Given the description of an element on the screen output the (x, y) to click on. 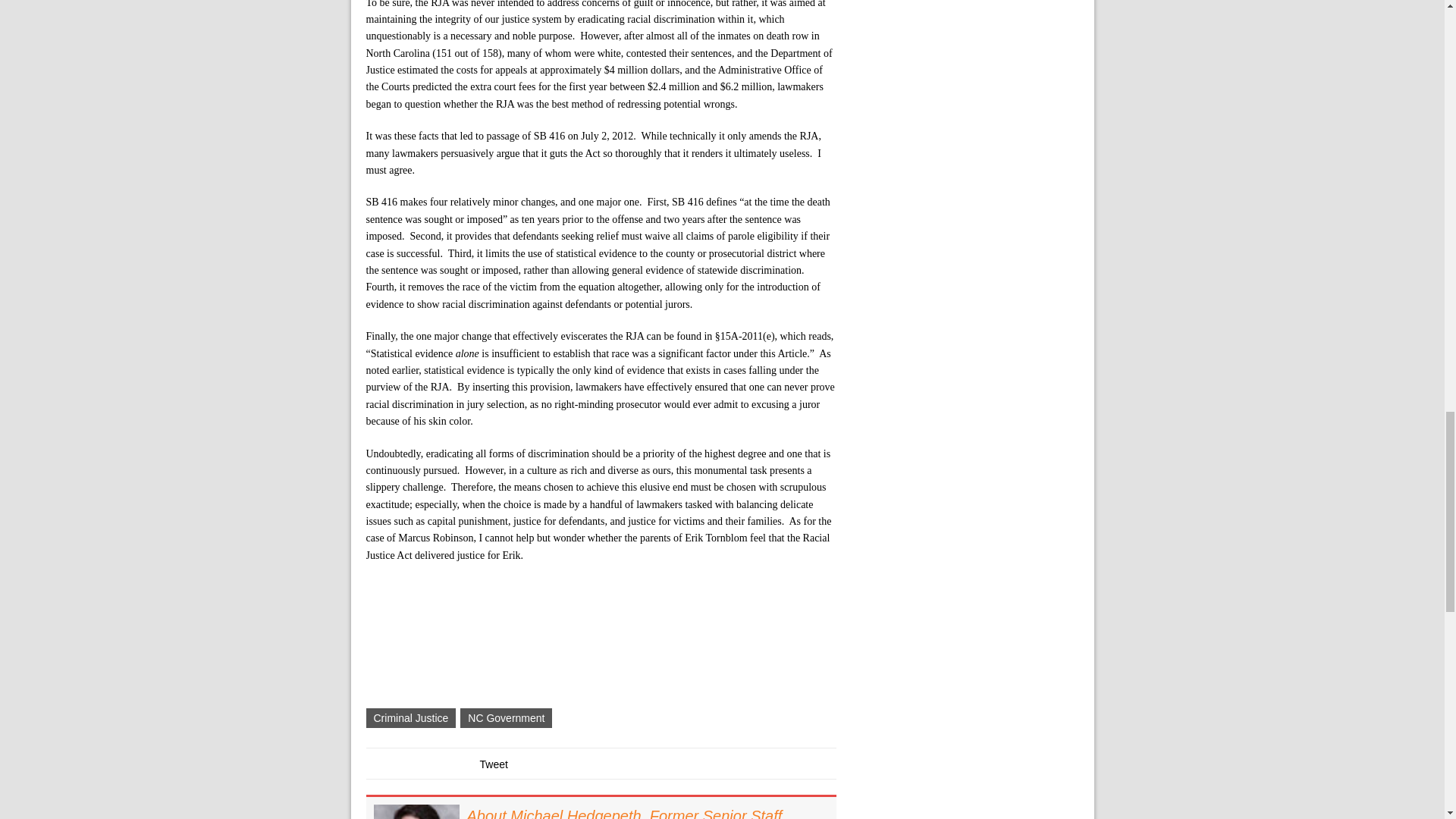
Criminal Justice (410, 718)
Tweet (492, 764)
NC Government (505, 718)
